Given the description of an element on the screen output the (x, y) to click on. 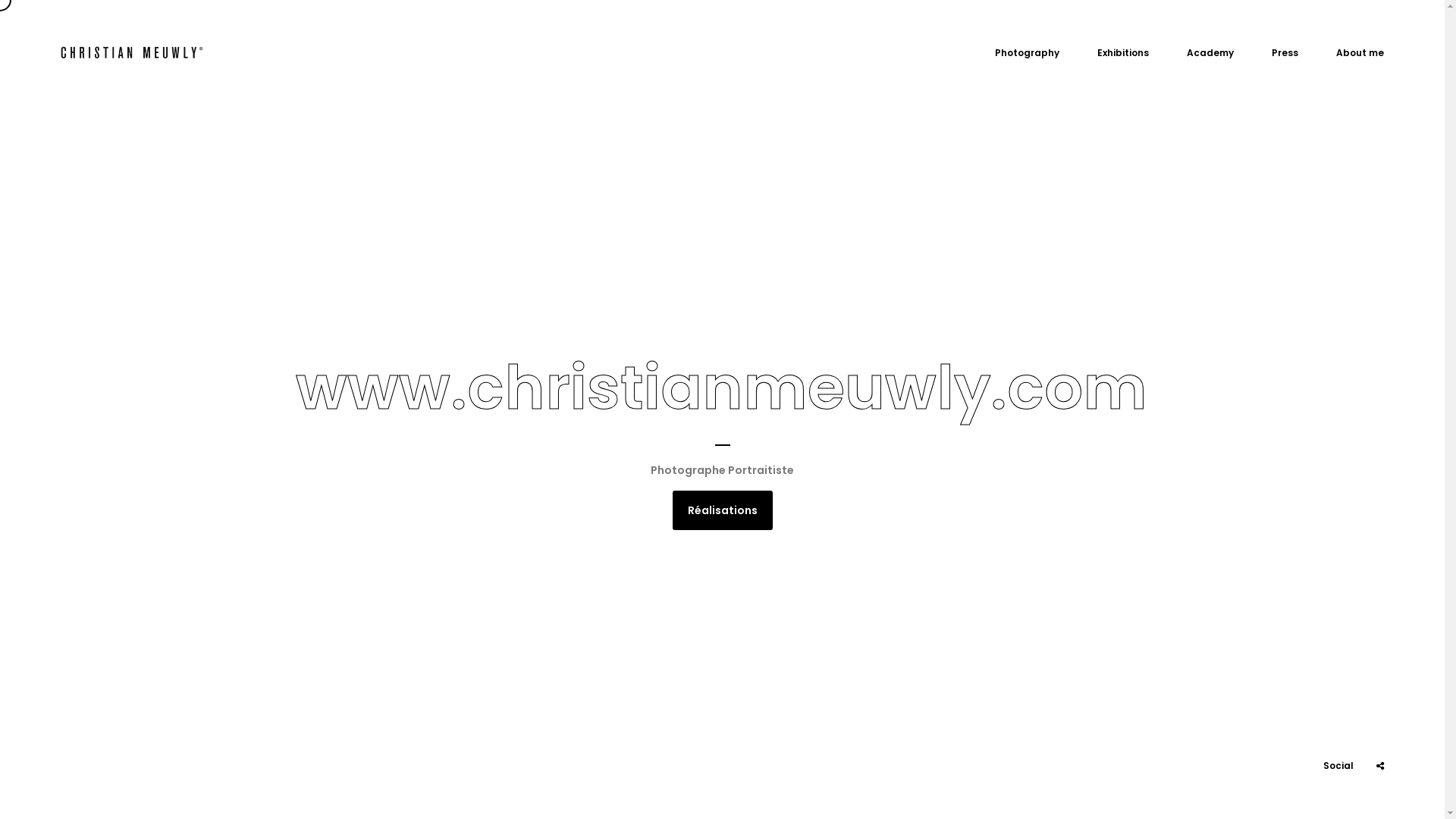
Photography Element type: text (1026, 50)
About me Element type: text (1359, 50)
Academy Element type: text (1209, 50)
Press Element type: text (1284, 50)
Exhibitions Element type: text (1122, 50)
